Given the description of an element on the screen output the (x, y) to click on. 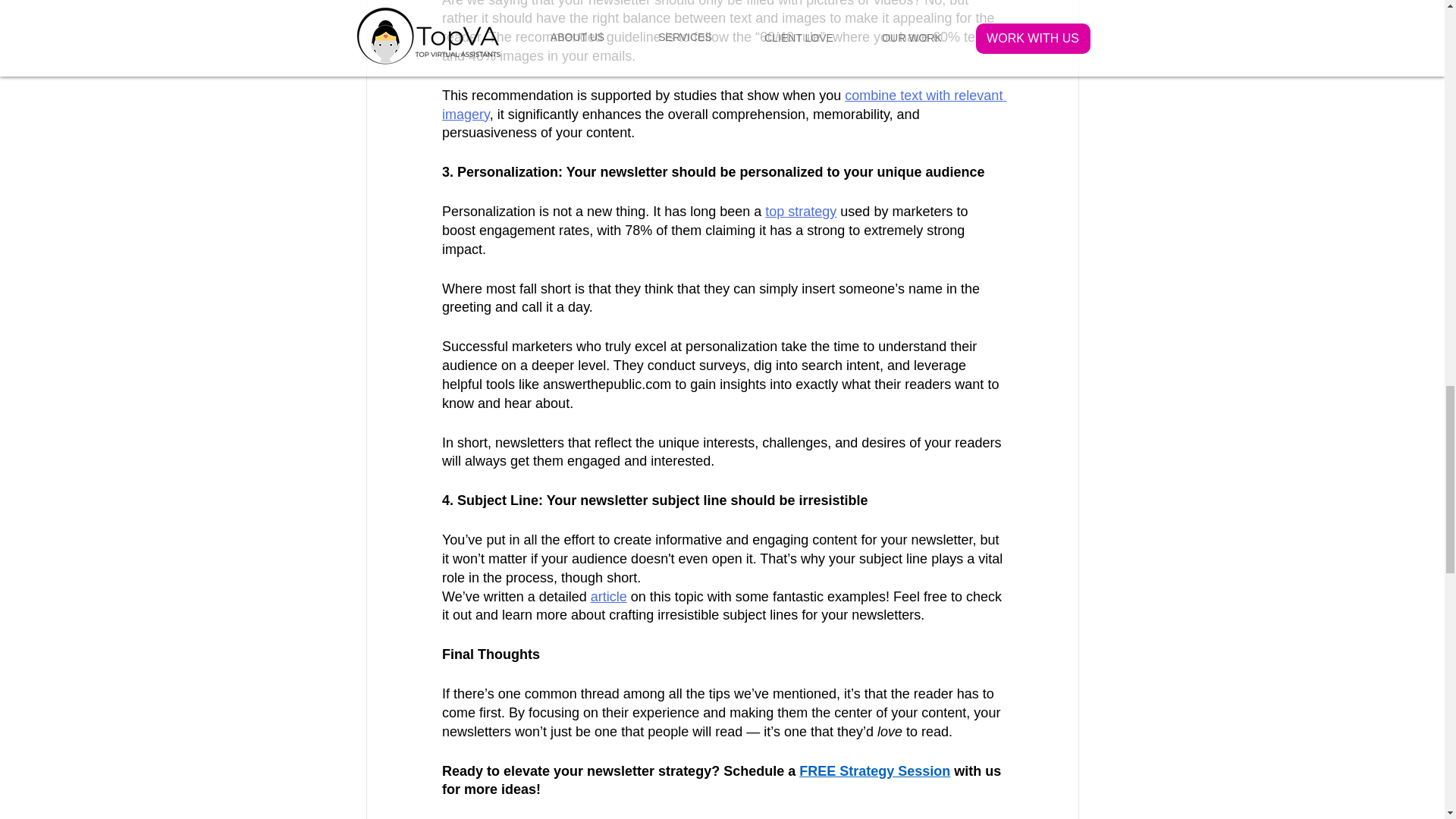
combine text with relevant imagery (723, 104)
top strategy (800, 211)
FREE Strategy Session (874, 770)
article (607, 596)
